Given the description of an element on the screen output the (x, y) to click on. 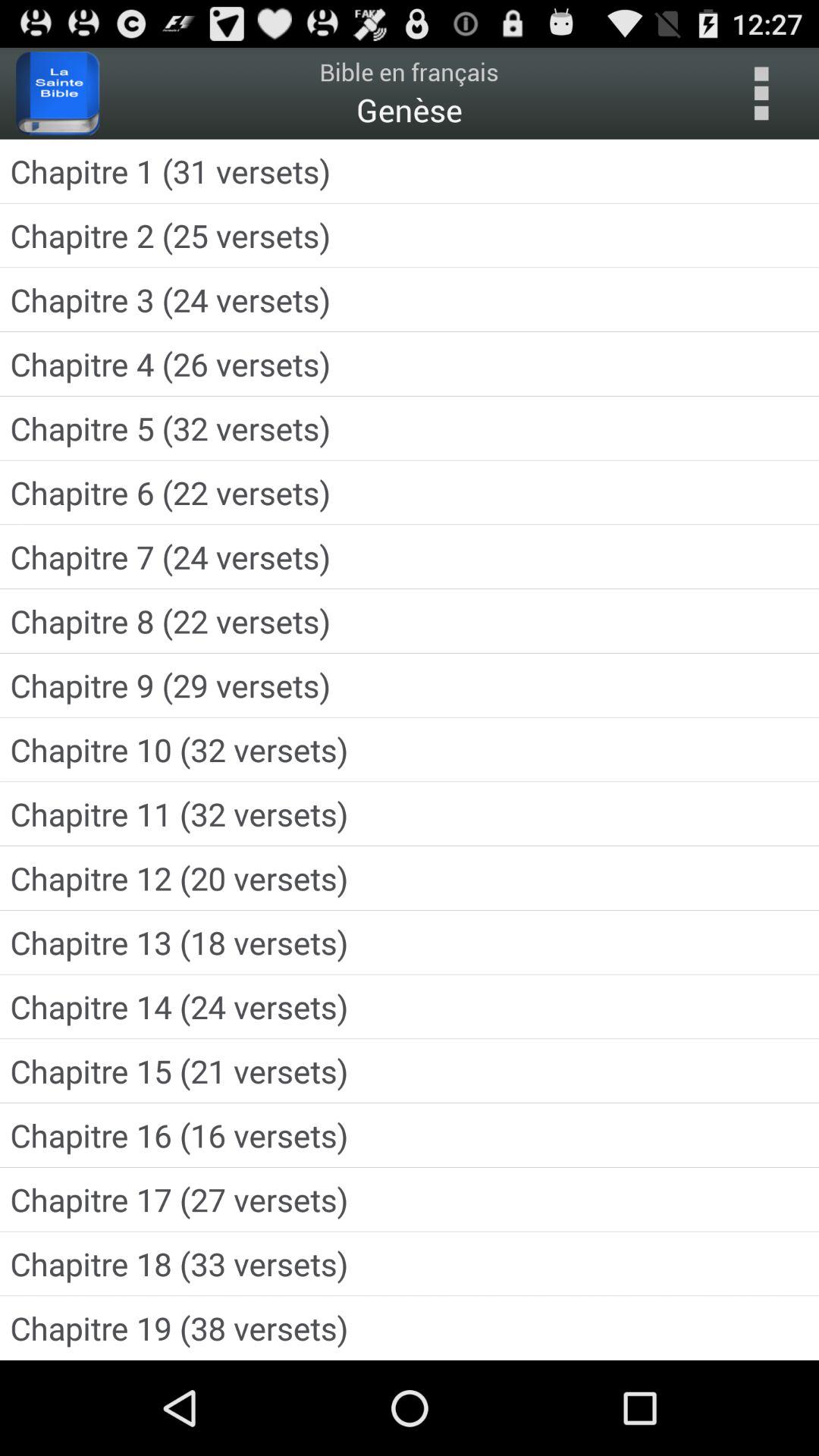
jump until the chapitre 17 27 (409, 1199)
